Given the description of an element on the screen output the (x, y) to click on. 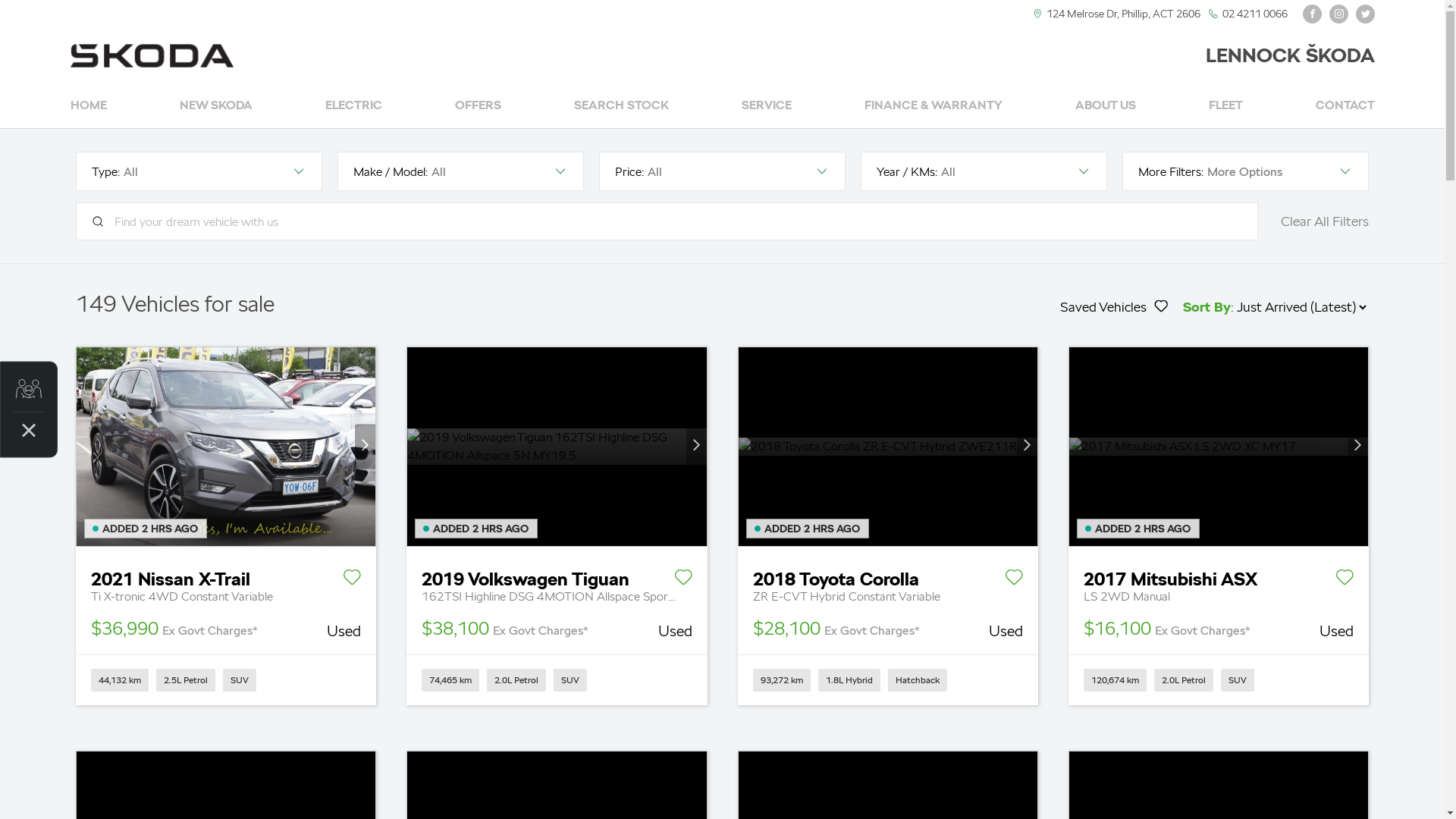
FLEET Element type: text (1225, 106)
124 Melrose Dr, Phillip, ACT 2606 Element type: text (1123, 13)
$38,100
Ex Govt Charges*
Used Element type: text (556, 629)
FINANCE & WARRANTY Element type: text (933, 106)
44,132 km
2.5L Petrol
SUV Element type: text (225, 679)
ABOUT US Element type: text (1105, 106)
Save Vehicle Element type: hover (1013, 579)
2018 Toyota Corolla ZR E-CVT Hybrid ZWE211R Element type: hover (887, 446)
Saved Vehicles Element type: text (1113, 307)
93,272 km
1.8L Hybrid
Hatchback Element type: text (887, 679)
2021 Nissan X-Trail Ti X-tronic 4WD T32 MY21 Element type: hover (225, 446)
2017 Mitsubishi ASX LS 2WD XC MY17 Element type: hover (1218, 446)
ELECTRIC Element type: text (352, 106)
$36,990
Ex Govt Charges*
Used Element type: text (225, 629)
NEW SKODA Element type: text (214, 106)
OFFERS Element type: text (478, 106)
Save Vehicle Element type: hover (682, 579)
HOME Element type: text (87, 106)
Save Vehicle Element type: hover (351, 579)
2021 Nissan X-Trail
Ti X-tronic 4WD Constant Variable Element type: text (225, 575)
2017 Mitsubishi ASX
LS 2WD Manual Element type: text (1218, 575)
Save Vehicle Element type: hover (1344, 579)
74,465 km
2.0L Petrol
SUV Element type: text (556, 679)
Clear All Filters Element type: text (1324, 221)
CONTACT Element type: text (1344, 106)
120,674 km
2.0L Petrol
SUV Element type: text (1218, 679)
SERVICE Element type: text (766, 106)
$28,100
Ex Govt Charges*
Used Element type: text (887, 629)
SEARCH STOCK Element type: text (620, 106)
02 4211 0066 Element type: text (1254, 13)
2018 Toyota Corolla
ZR E-CVT Hybrid Constant Variable Element type: text (887, 575)
$16,100
Ex Govt Charges*
Used Element type: text (1218, 629)
